Given the description of an element on the screen output the (x, y) to click on. 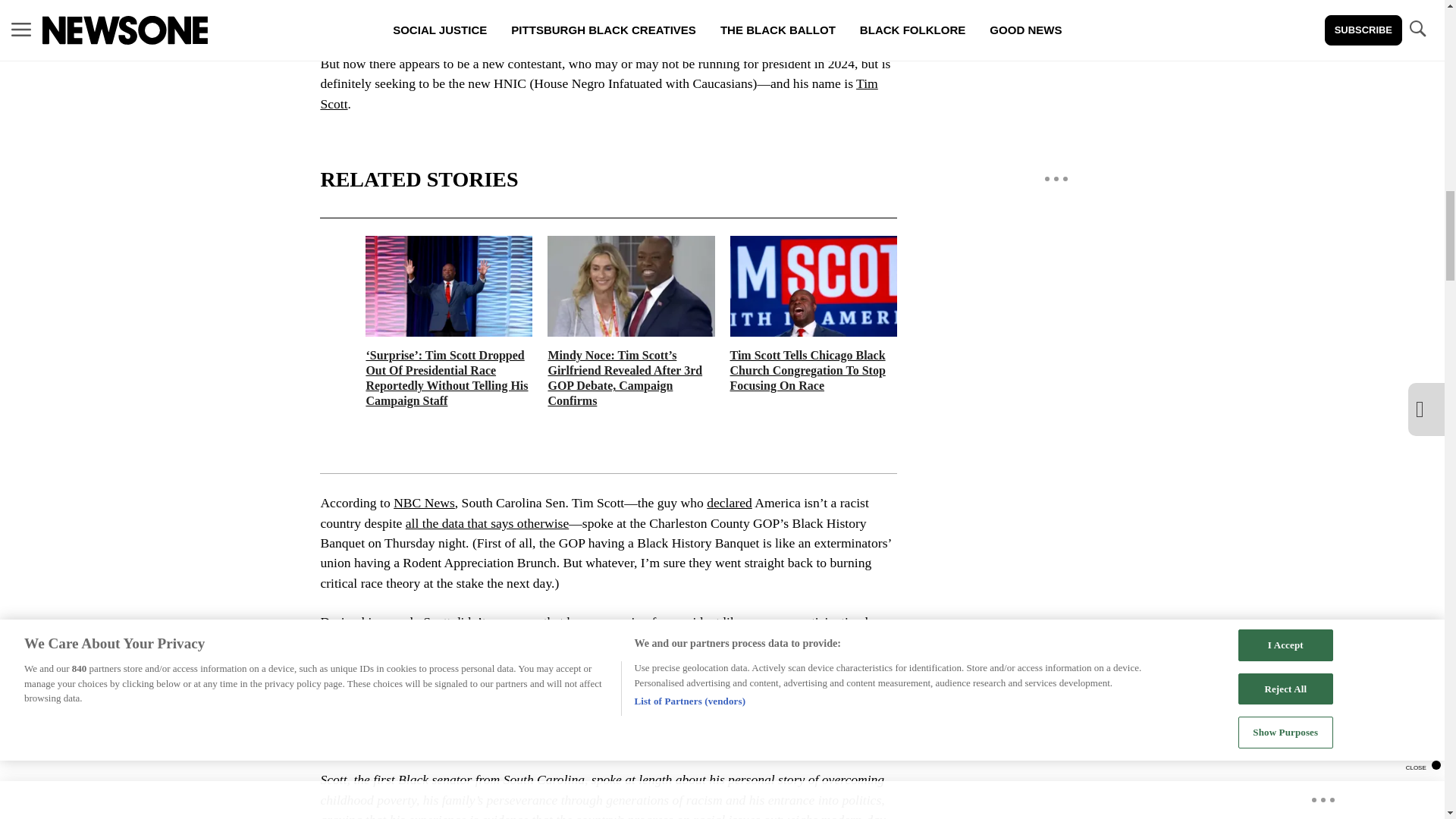
all the data that says otherwise (487, 522)
NBC News (423, 502)
Nikky Haley (604, 671)
Tim Scott (598, 93)
declared (729, 502)
